Given the description of an element on the screen output the (x, y) to click on. 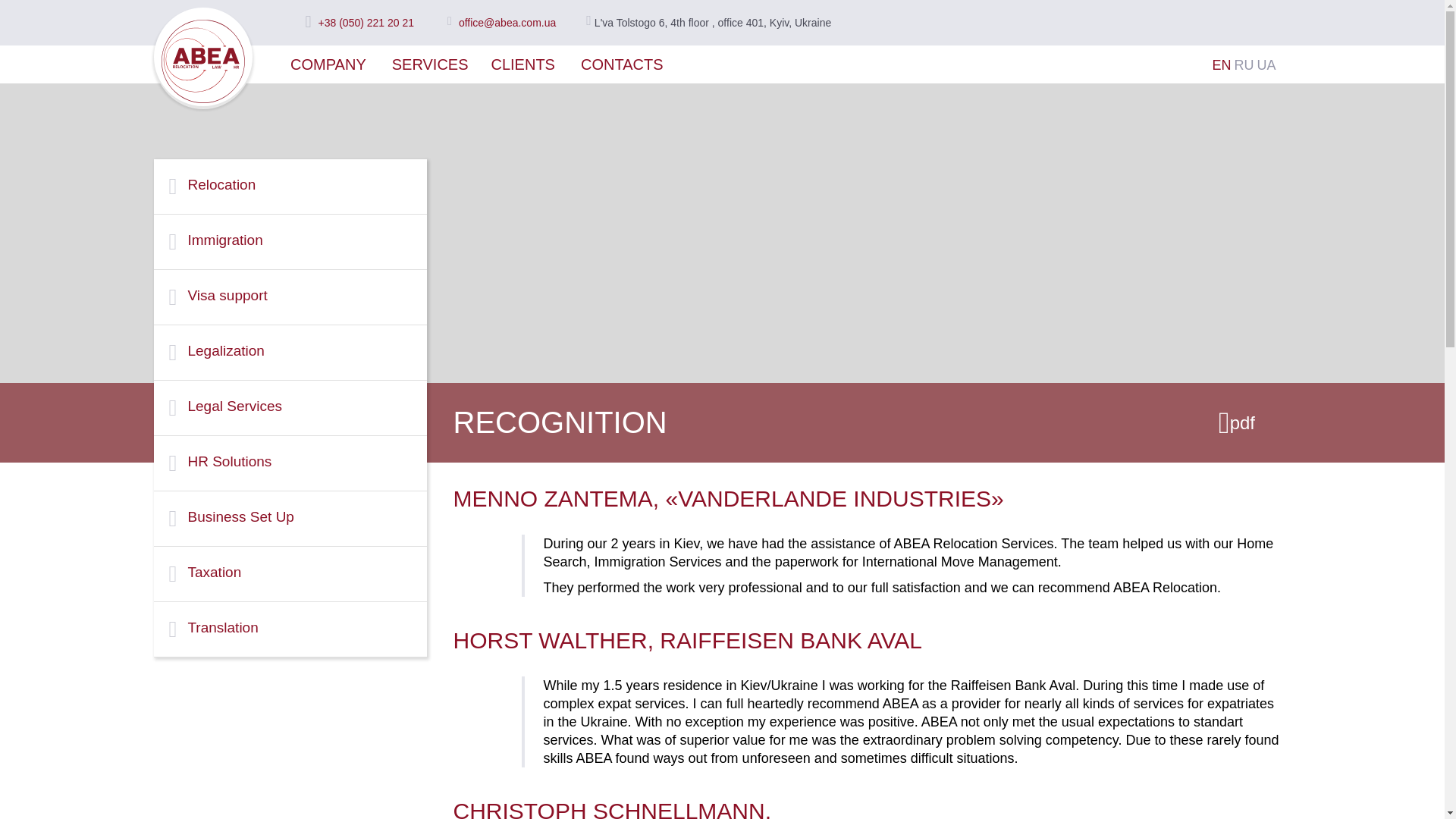
COMPANY (327, 64)
EN (1220, 64)
RU (1243, 64)
CLIENTS (523, 64)
CONTACTS (621, 64)
pdf (1236, 422)
UA (1265, 64)
SERVICES (429, 64)
